Given the description of an element on the screen output the (x, y) to click on. 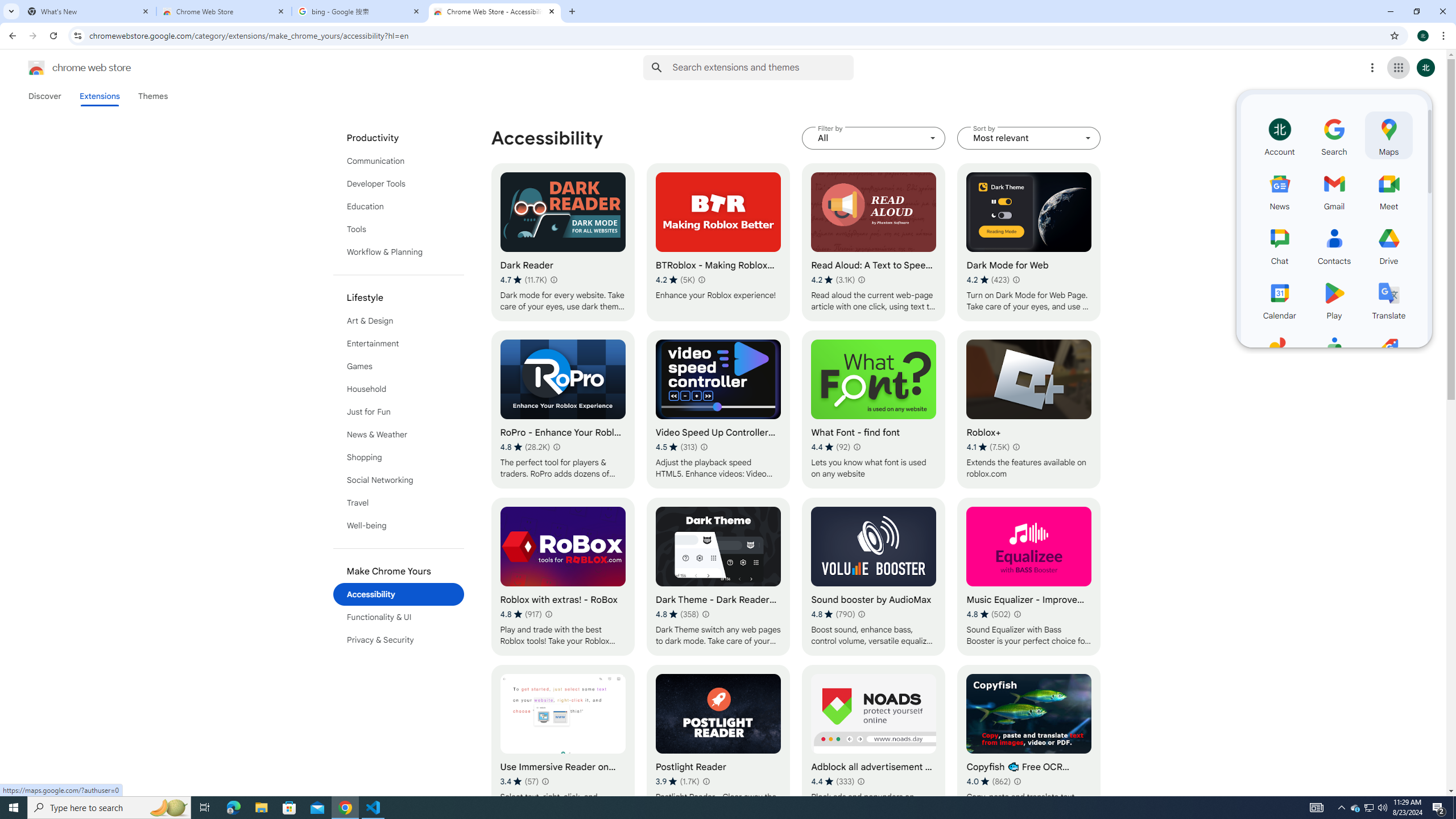
Filter by All (874, 137)
Dark Theme - Dark Reader for Web (718, 576)
Sound booster by AudioMax (874, 576)
Functionality & UI (398, 617)
Average rating 4.8 out of 5 stars. 358 ratings. (676, 613)
Just for Fun (398, 411)
